Given the description of an element on the screen output the (x, y) to click on. 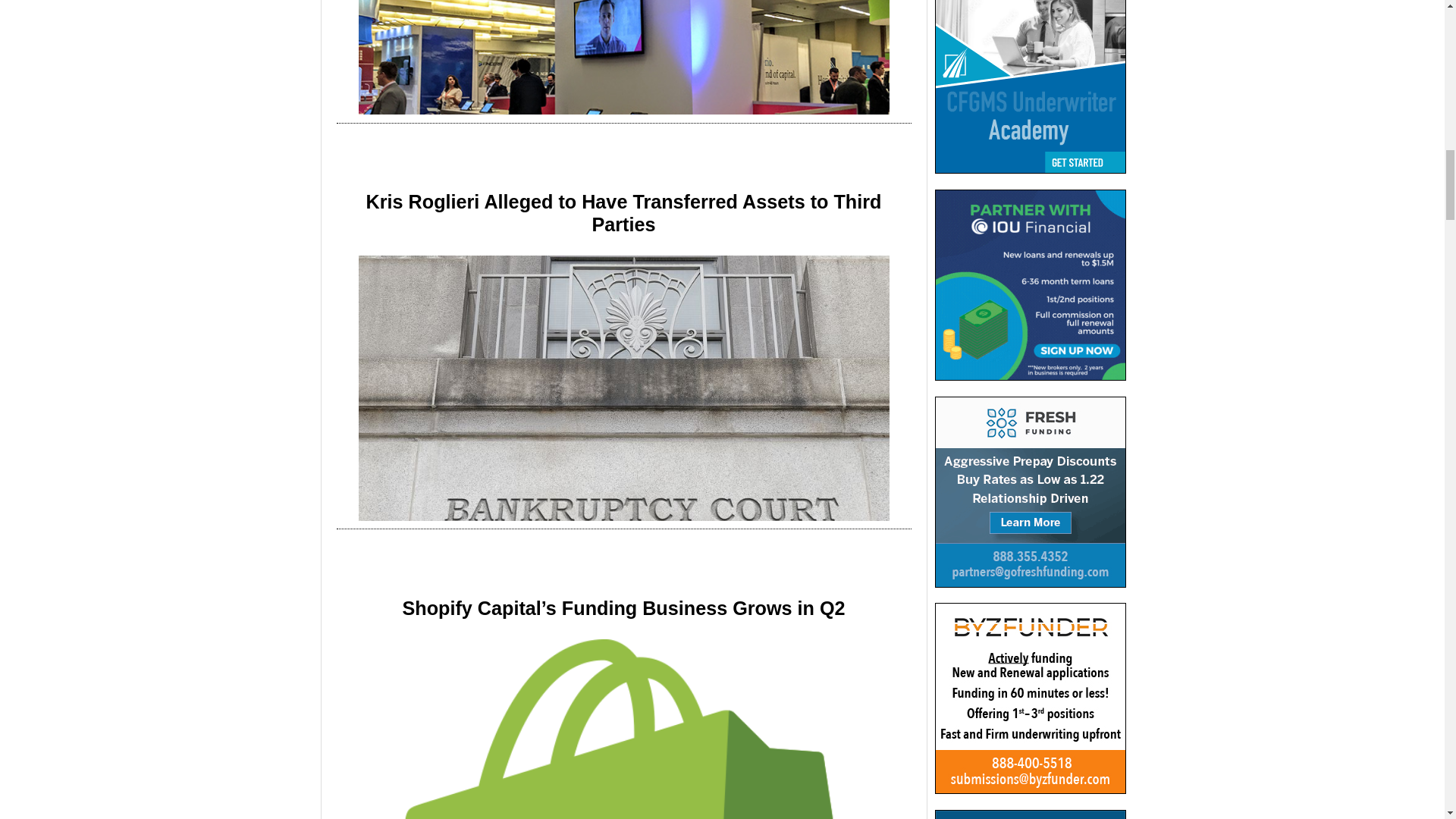
IOU Financial (1029, 284)
ByzFunder (1029, 697)
CFG Merchant Solutions (1029, 86)
Resolute - Dispute Resolution (1029, 814)
Fresh Funding (1029, 492)
